Given the description of an element on the screen output the (x, y) to click on. 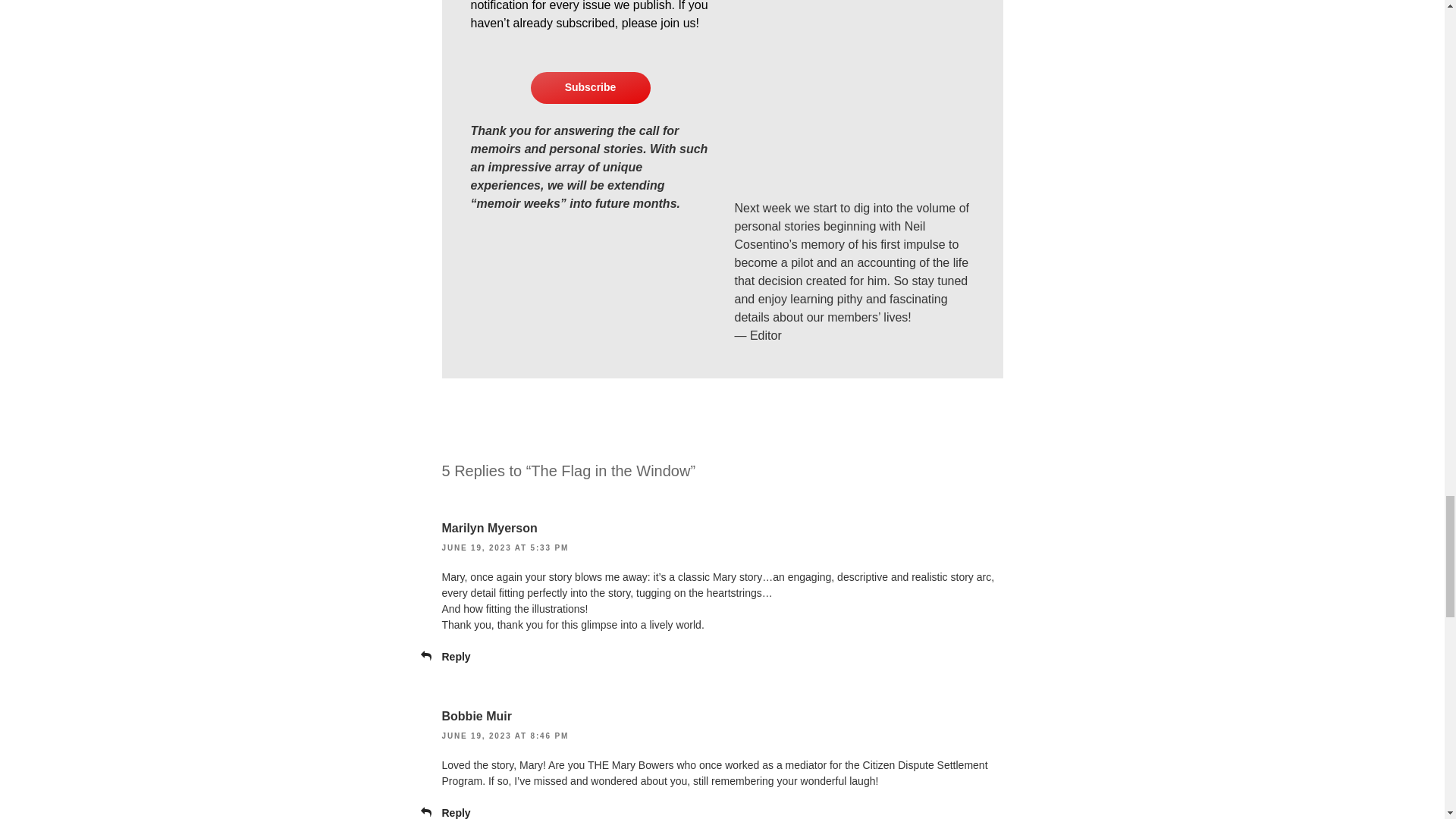
Subscribe (590, 88)
Reply (455, 656)
JUNE 19, 2023 AT 5:33 PM (505, 547)
JUNE 19, 2023 AT 8:46 PM (505, 736)
Reply (455, 812)
